Given the description of an element on the screen output the (x, y) to click on. 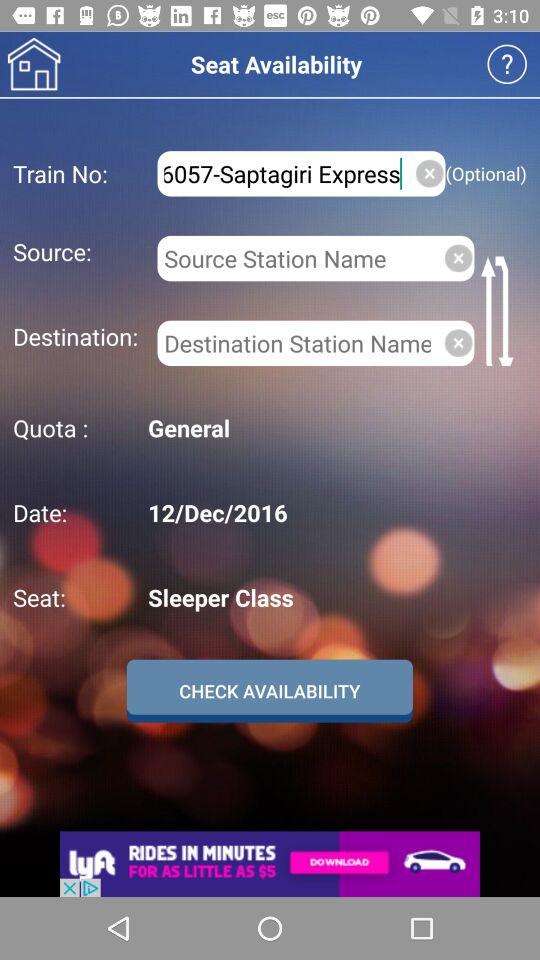
switch fields (500, 310)
